Given the description of an element on the screen output the (x, y) to click on. 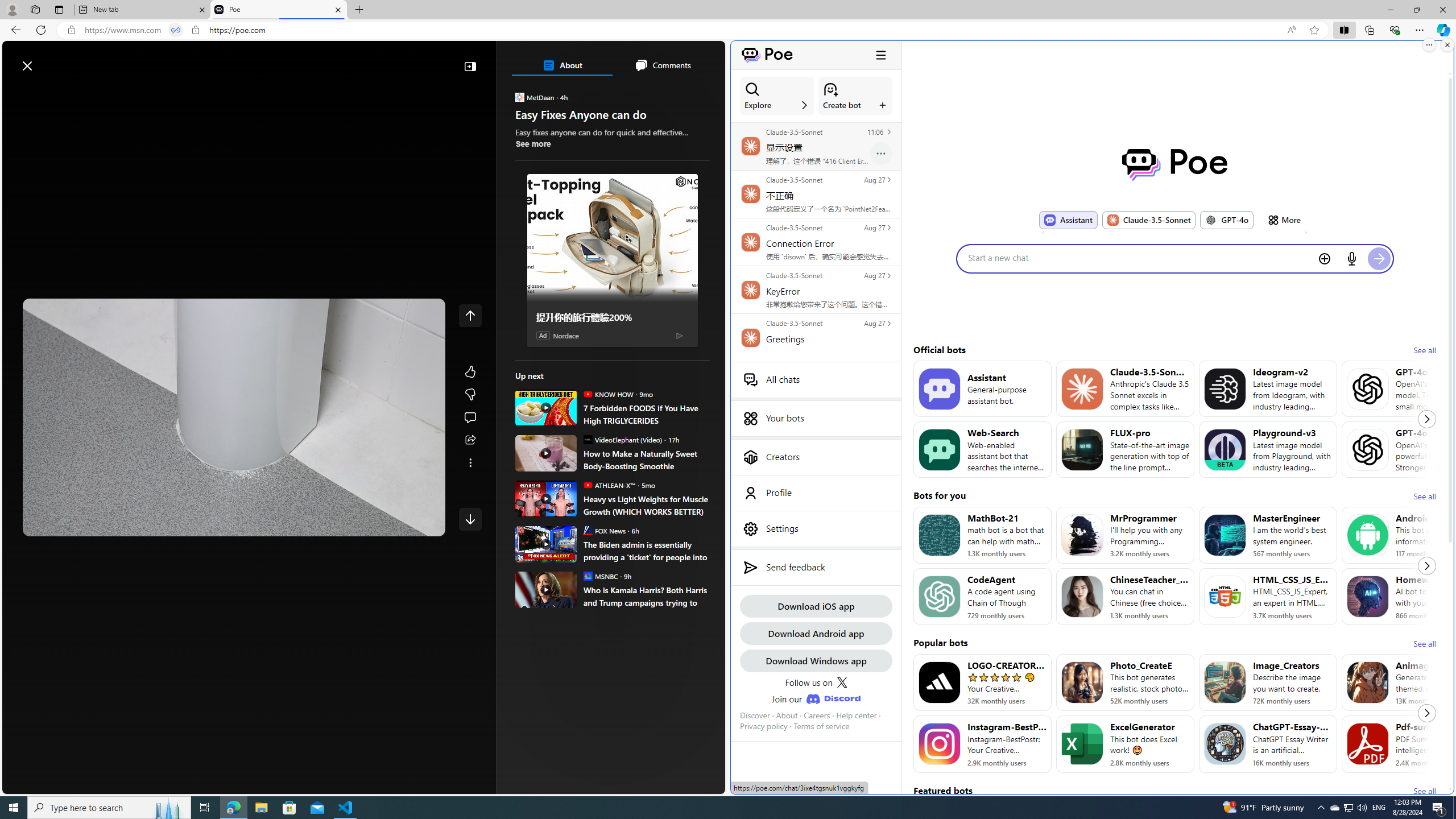
Bot image for Playground-v3 (1224, 449)
Bot image for GPT-4o-Mini (1367, 388)
Seek Forward (85, 523)
Bot image for Homeworkbot679 (1367, 596)
Like (469, 371)
